Given the description of an element on the screen output the (x, y) to click on. 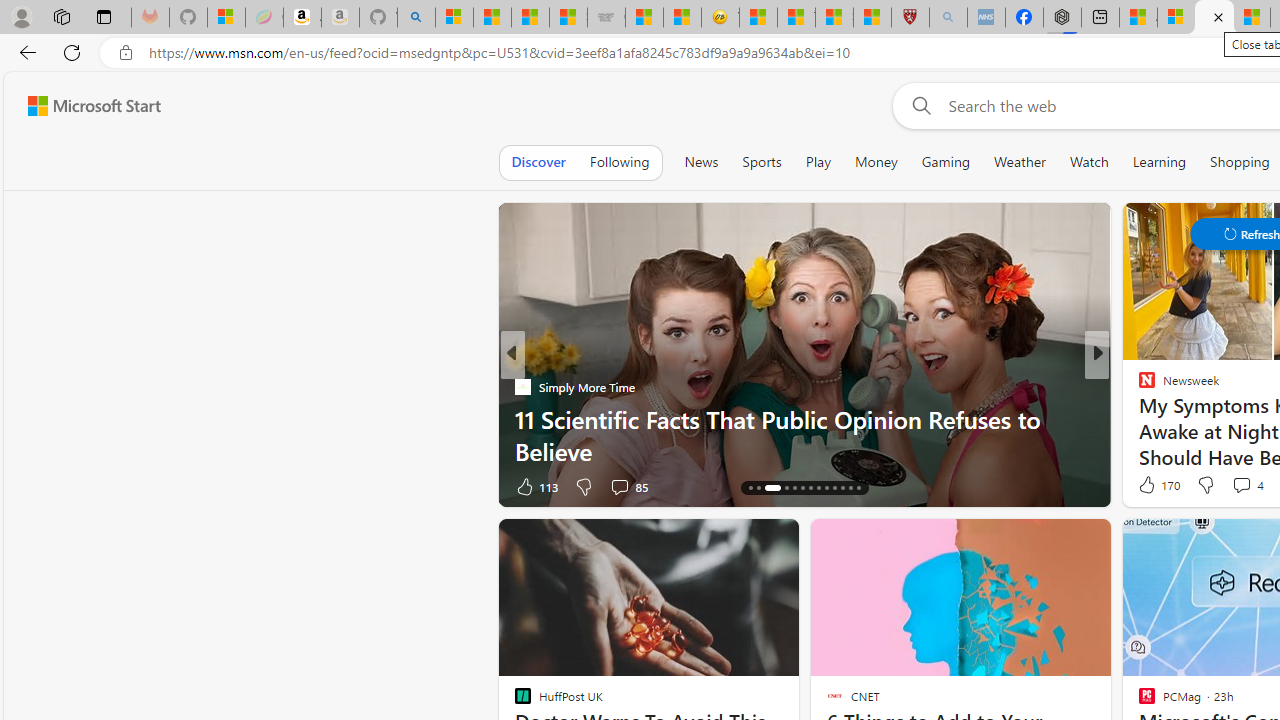
AutomationID: tab-15 (757, 487)
Popular Mechanics (1138, 386)
View comments 1 Comment (1229, 485)
3k Like (1148, 486)
11 Scientific Facts That Public Opinion Refuses to Believe (804, 435)
720 Like (1151, 486)
Digital Trends (1138, 386)
View comments 34 Comment (1244, 486)
View comments 73 Comment (1244, 486)
View comments 18 Comment (1244, 486)
